Given the description of an element on the screen output the (x, y) to click on. 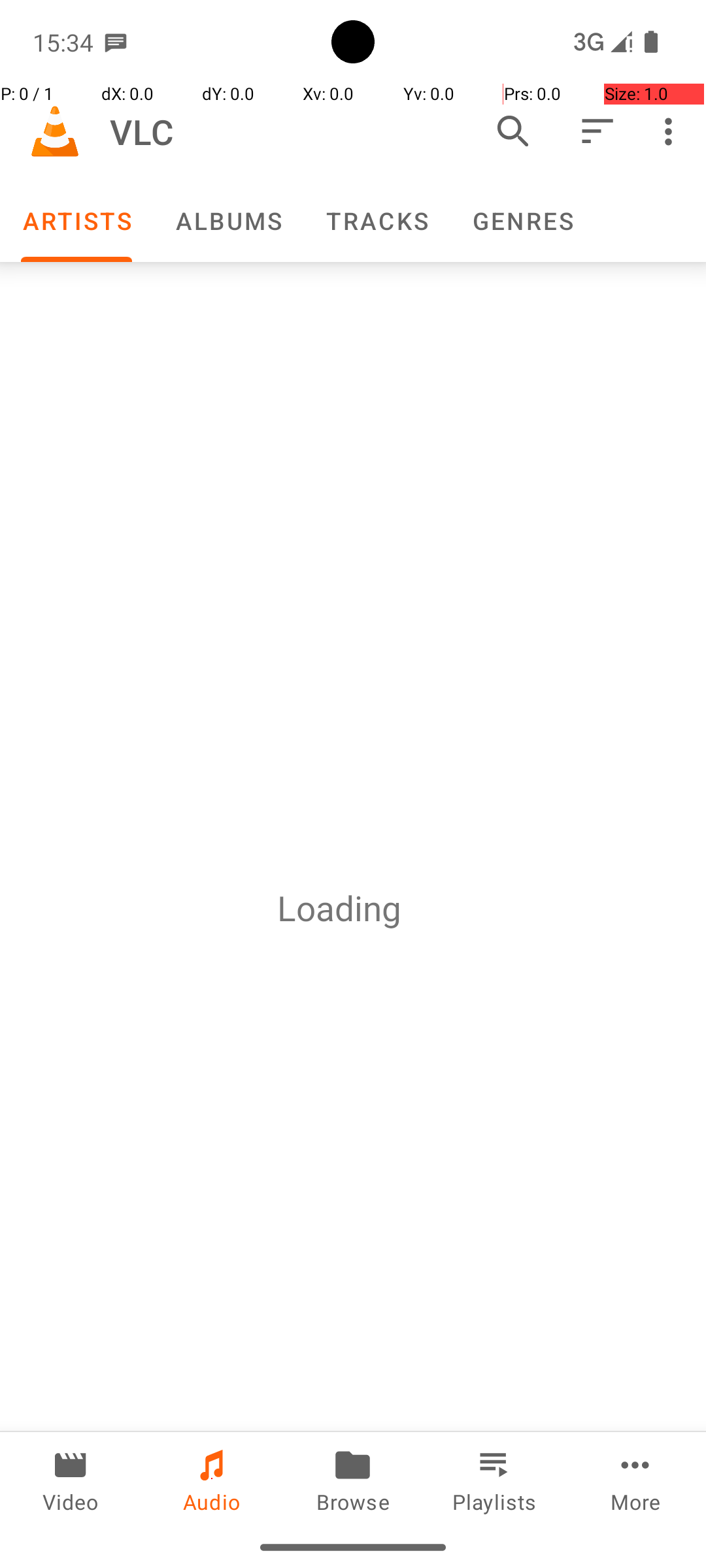
Genres Element type: android.widget.LinearLayout (521, 220)
ARTISTS Element type: android.widget.TextView (76, 220)
ALBUMS Element type: android.widget.TextView (227, 220)
TRACKS Element type: android.widget.TextView (376, 220)
GENRES Element type: android.widget.TextView (521, 220)
